Given the description of an element on the screen output the (x, y) to click on. 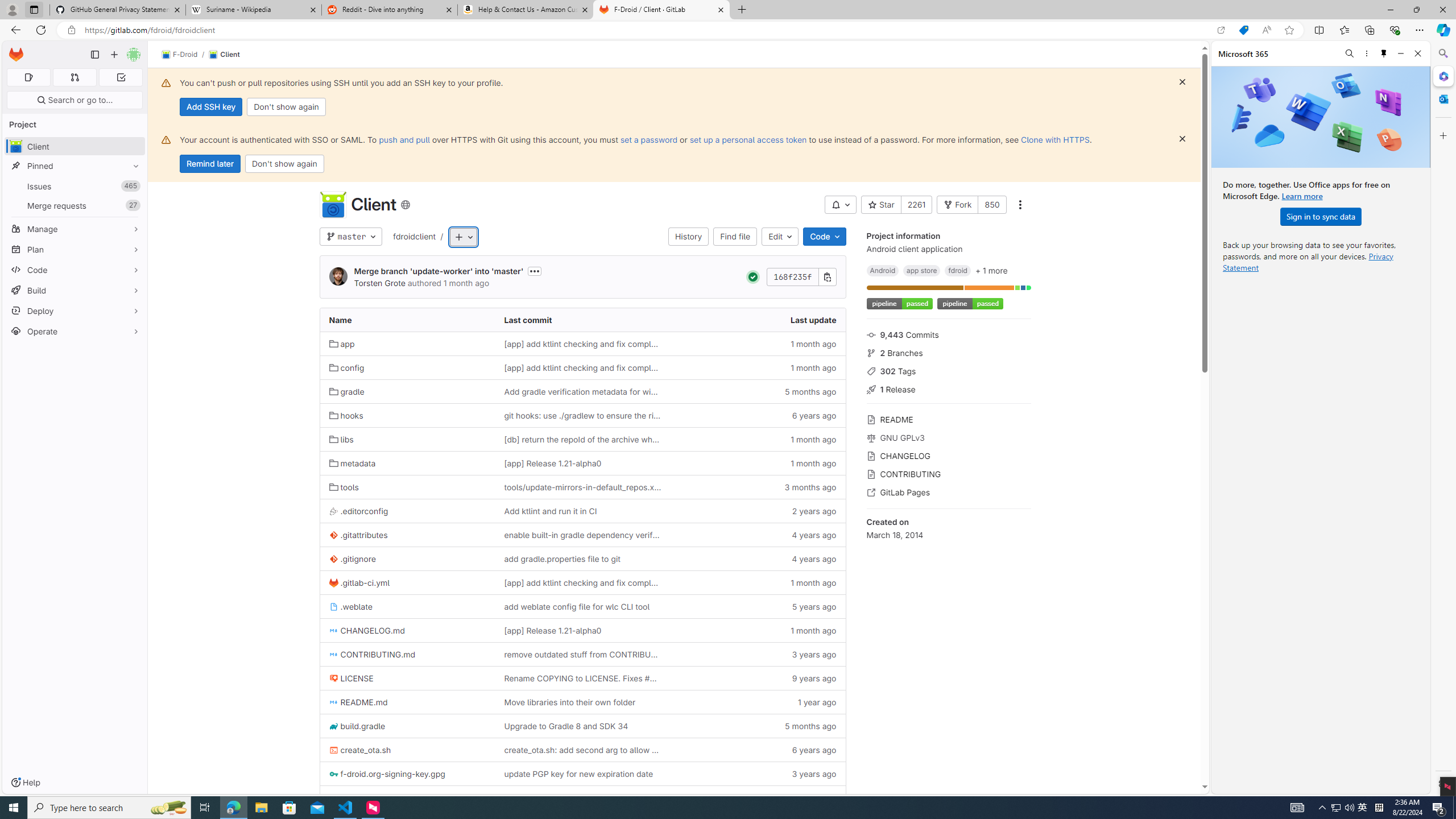
Class: tree-item (582, 797)
CHANGELOG.md (407, 630)
.gitignore (407, 558)
Add ktlint and run it in CI (549, 511)
Plan (74, 248)
Torsten Grote's avatar (338, 276)
Build (74, 289)
Deploy (74, 310)
push and pull (403, 139)
enable built-in gradle dependency verification (583, 534)
